Given the description of an element on the screen output the (x, y) to click on. 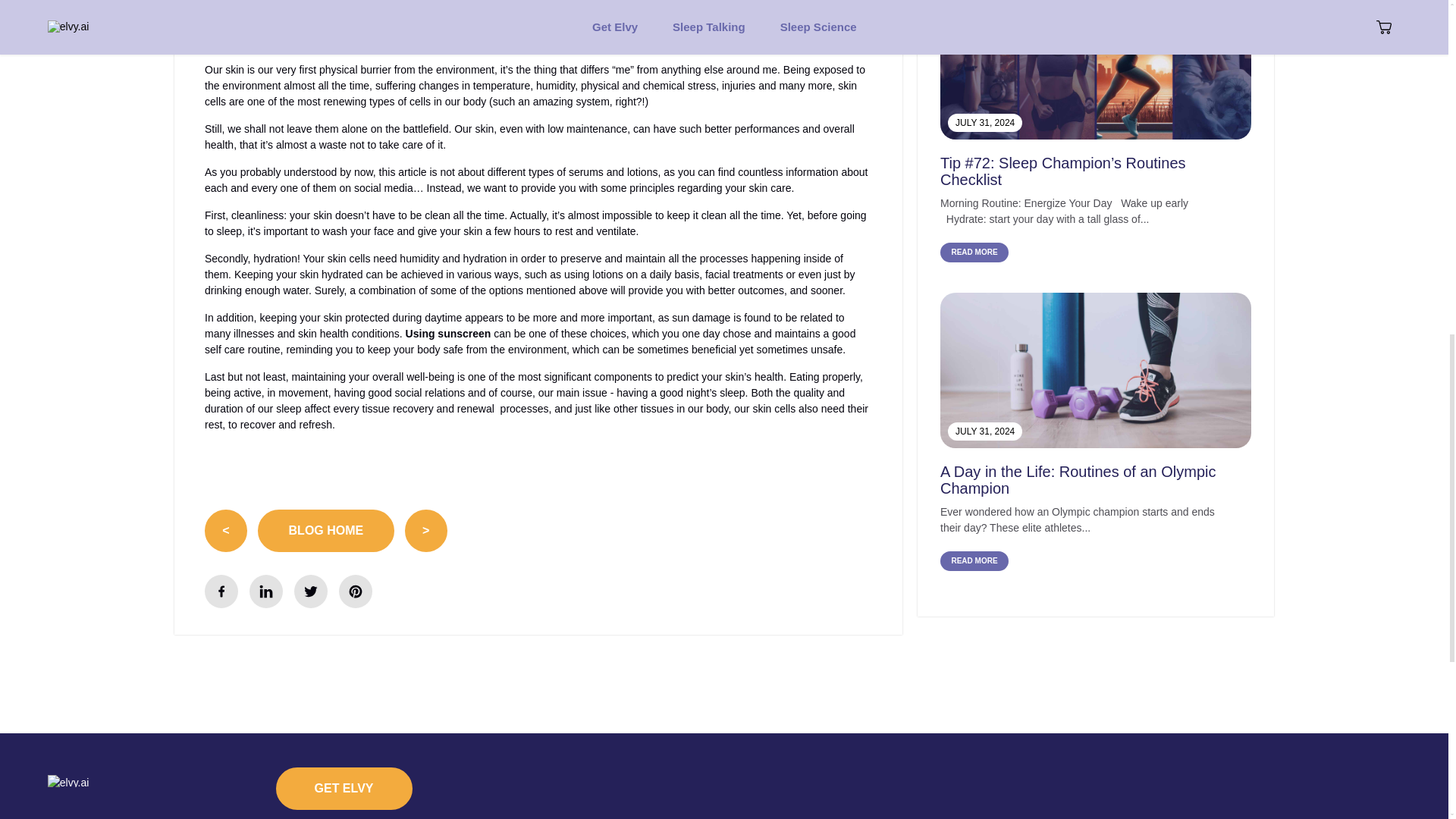
JULY 31, 2024 (1095, 69)
READ MORE (974, 252)
JULY 31, 2024 (1095, 369)
Linkedin (265, 591)
Twitter (310, 591)
GET ELVY (344, 788)
Facebook (221, 591)
BLOG HOME (325, 530)
READ MORE (974, 560)
Pinterest (355, 591)
